Given the description of an element on the screen output the (x, y) to click on. 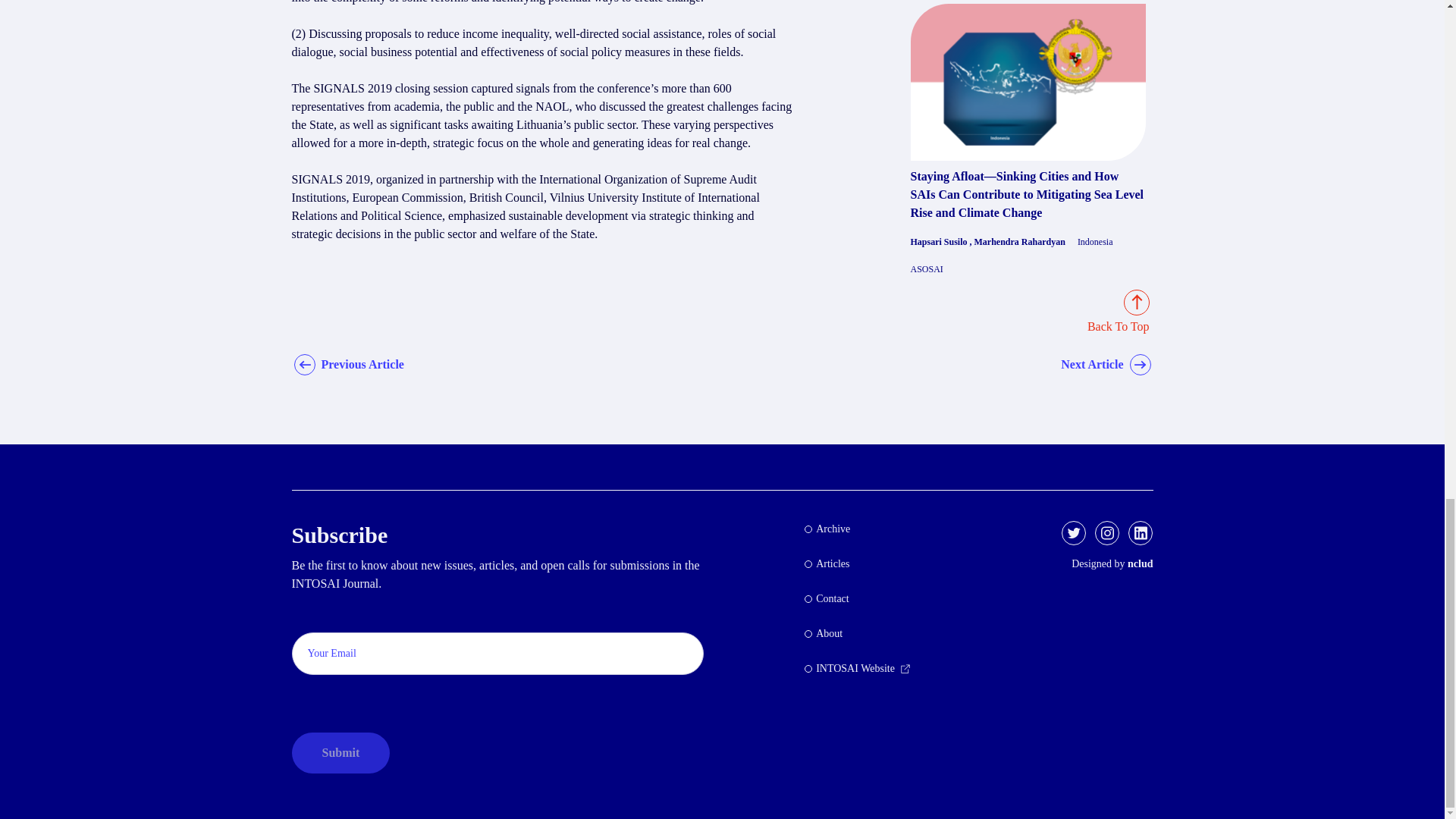
Submit (340, 752)
